Given the description of an element on the screen output the (x, y) to click on. 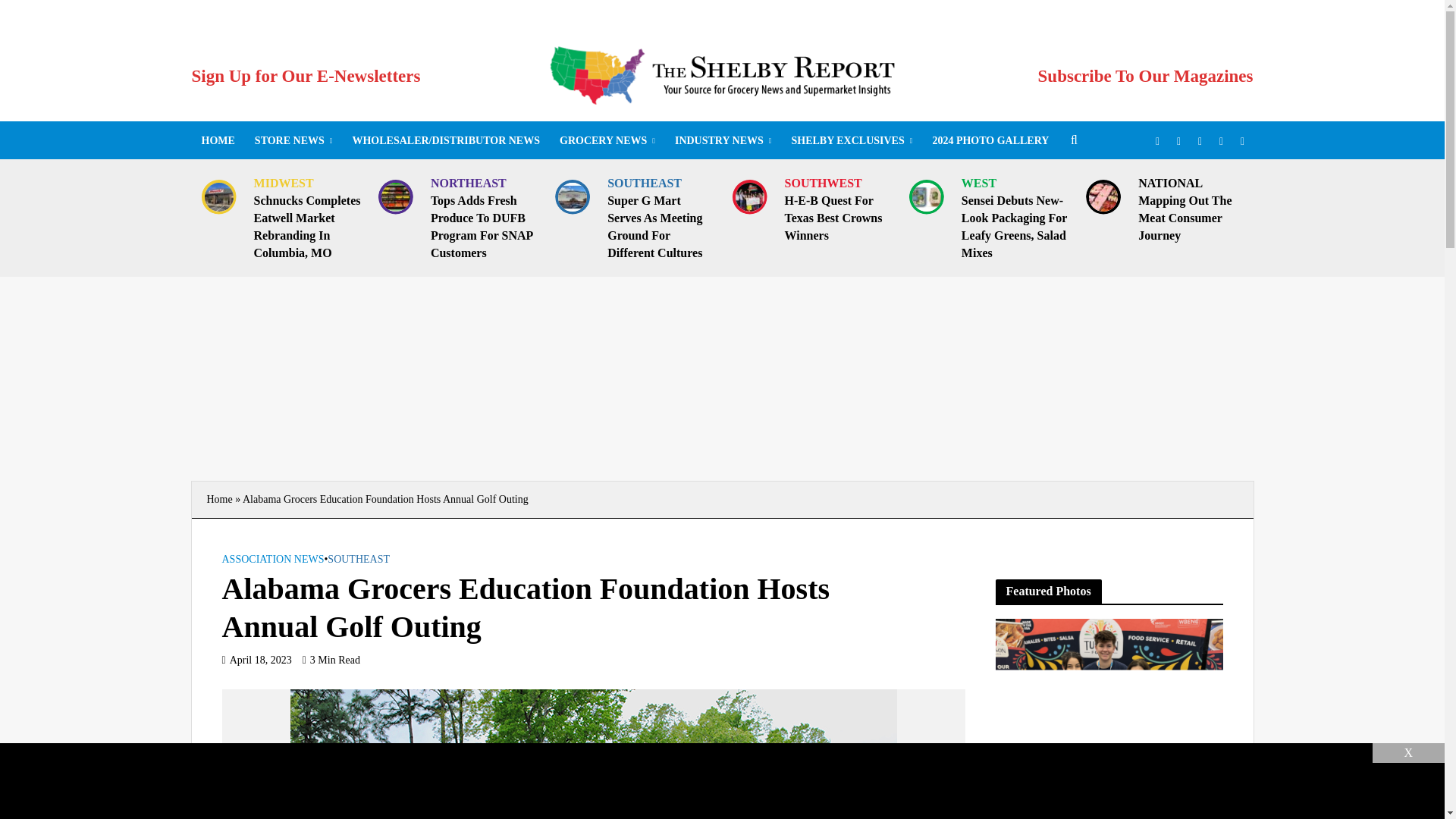
Subscribe To Our Magazines (1145, 76)
Sign Up for Our E-Newsletters (305, 76)
STORE NEWS (293, 140)
INDUSTRY NEWS (723, 140)
GROCERY NEWS (607, 140)
HOME (217, 140)
SHELBY EXCLUSIVES (850, 140)
